Given the description of an element on the screen output the (x, y) to click on. 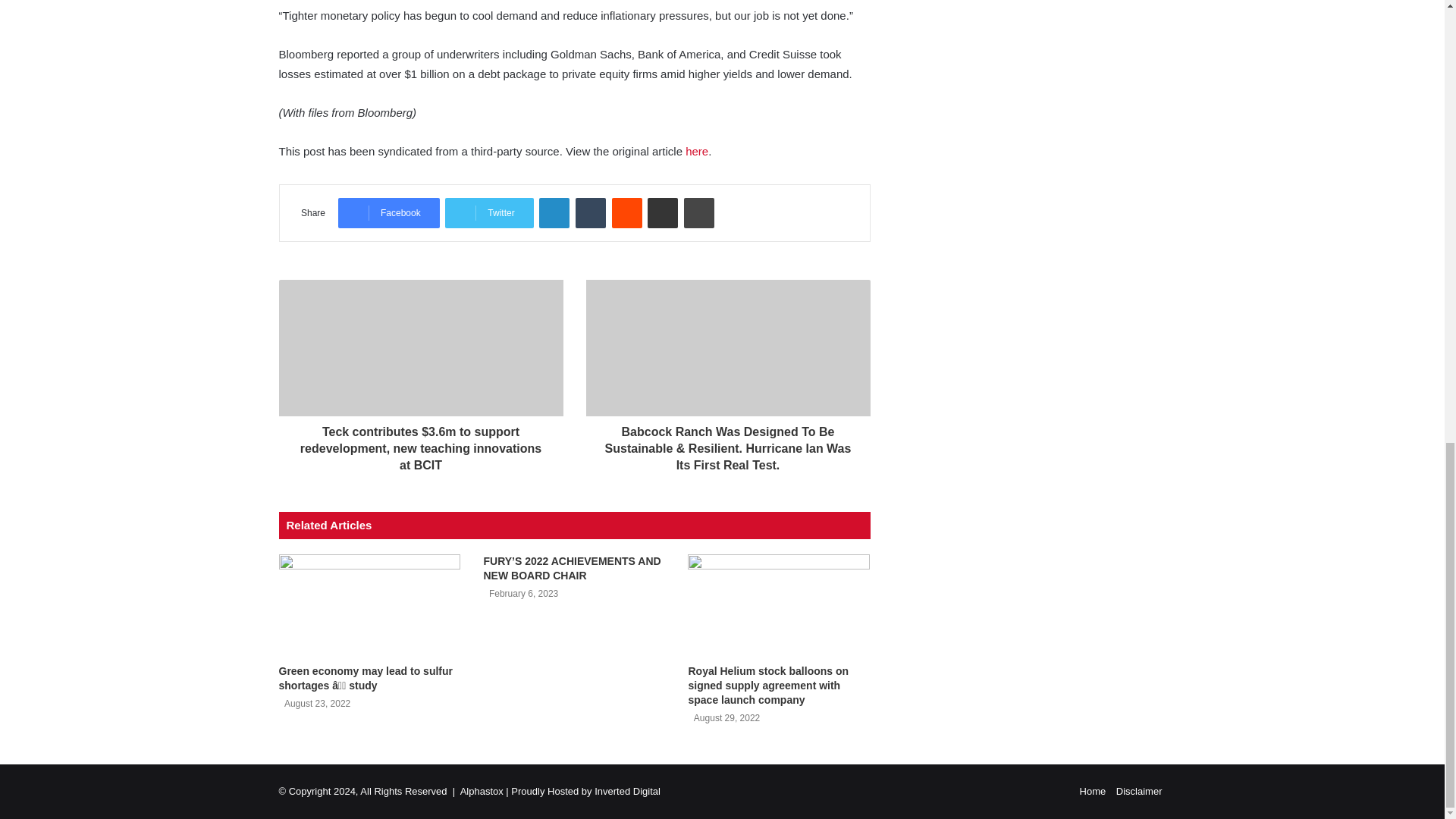
Facebook (388, 213)
LinkedIn (553, 213)
Tumblr (590, 213)
Twitter (488, 213)
here (696, 151)
